Given the description of an element on the screen output the (x, y) to click on. 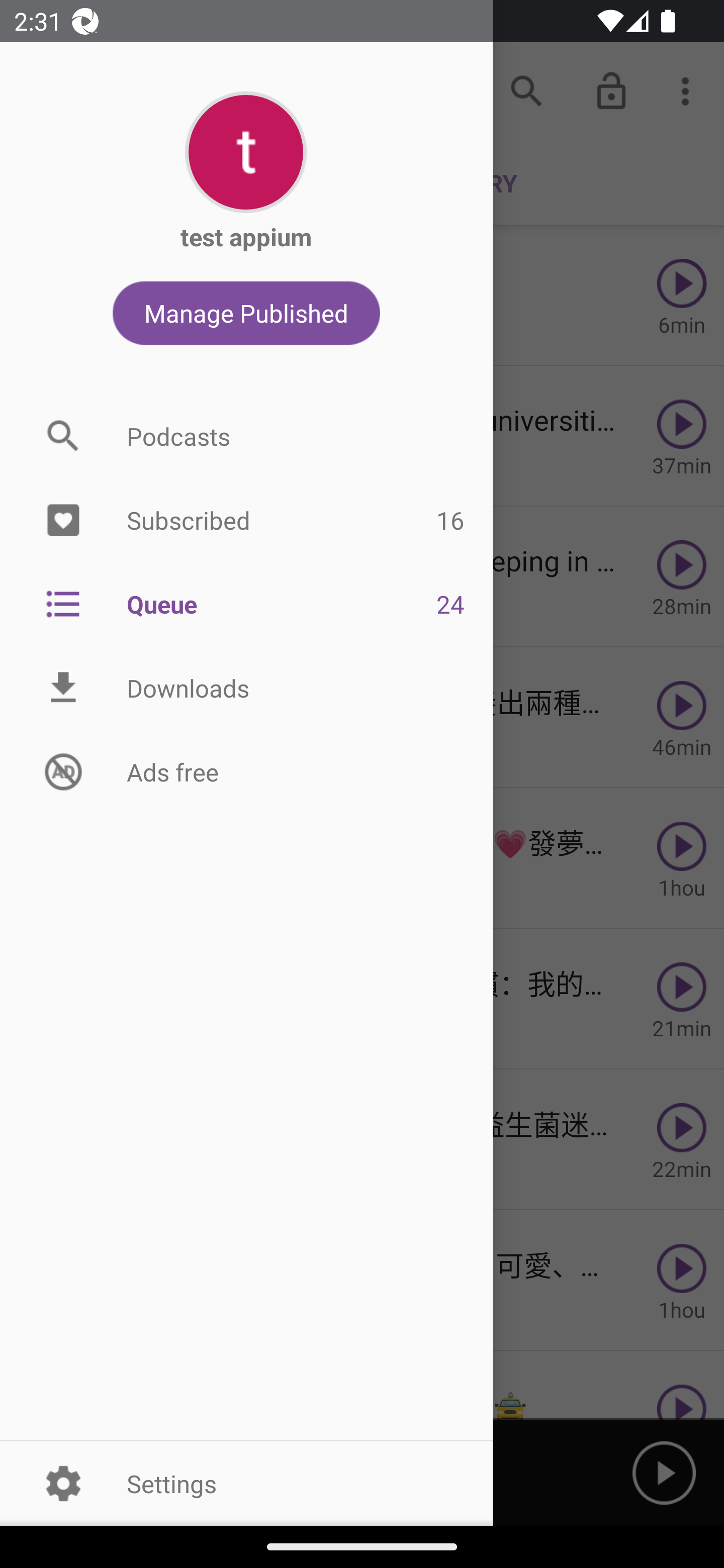
Manage Published (246, 312)
Picture Podcasts (246, 435)
Picture Subscribed 16 (246, 520)
Picture Queue 24 (246, 603)
Picture Downloads (246, 688)
Picture Ads free (246, 771)
Settings Picture Settings (246, 1482)
